Given the description of an element on the screen output the (x, y) to click on. 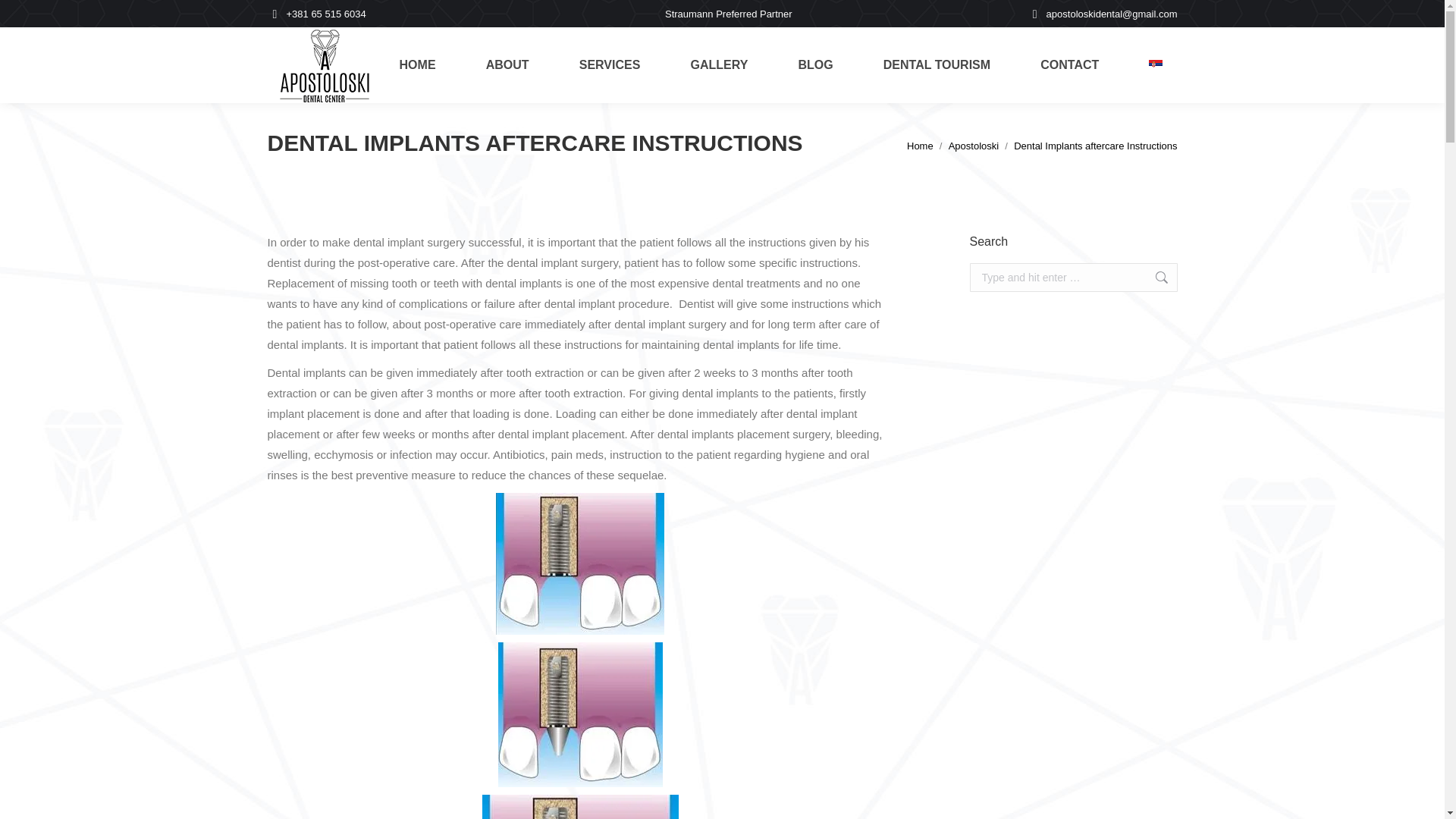
dental Implant3.JPG (579, 806)
Home (920, 145)
CONTACT (1069, 64)
dental Implant1.JPG (579, 563)
Apostoloski (973, 145)
GALLERY (718, 64)
BLOG (815, 64)
HOME (417, 64)
Apostoloski (973, 145)
Home (920, 145)
ABOUT (507, 64)
Go! (1153, 276)
DENTAL TOURISM (936, 64)
SERVICES (609, 64)
Go! (1153, 276)
